Given the description of an element on the screen output the (x, y) to click on. 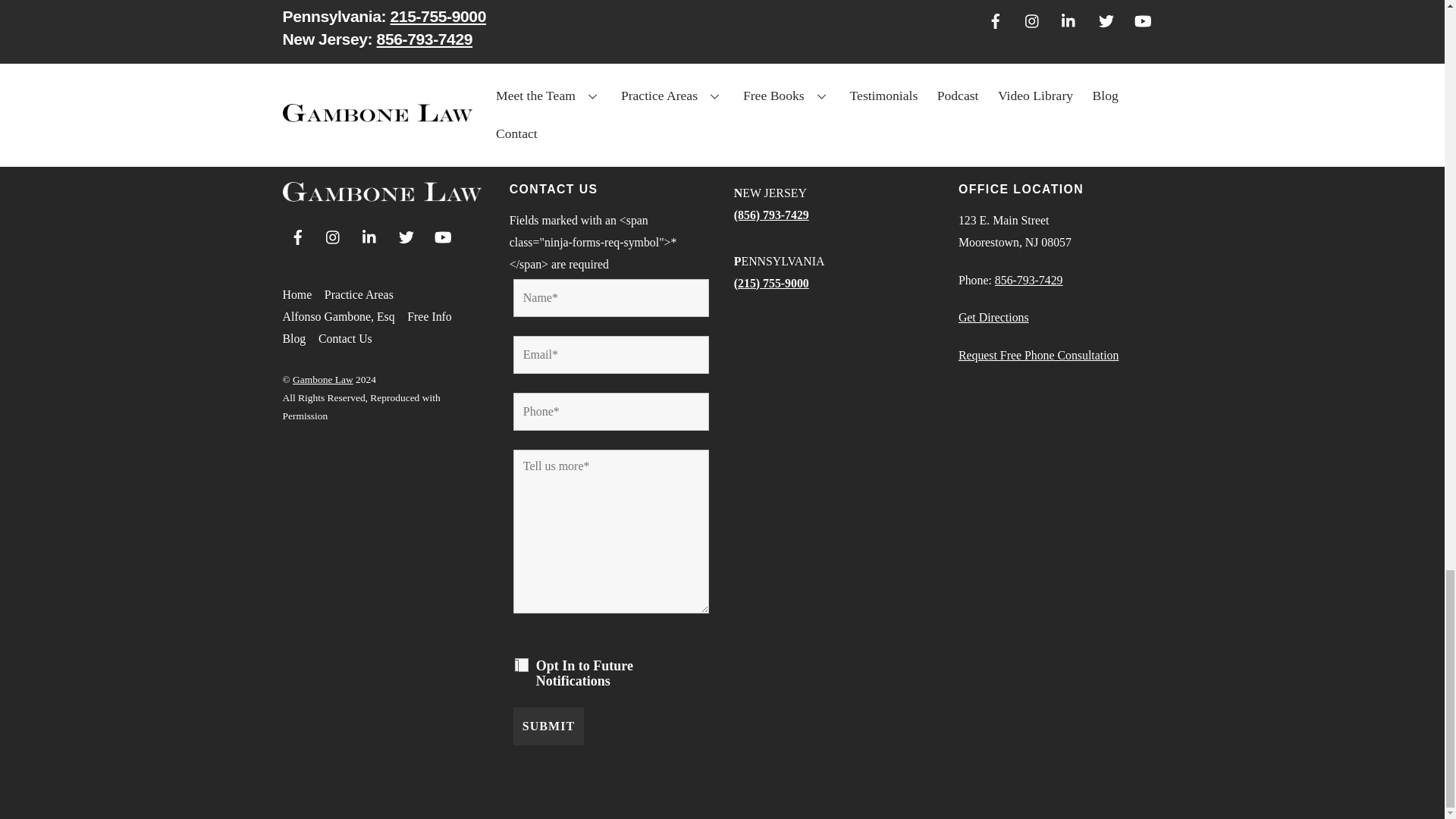
Gambone Law (381, 195)
Submit (548, 726)
